Given the description of an element on the screen output the (x, y) to click on. 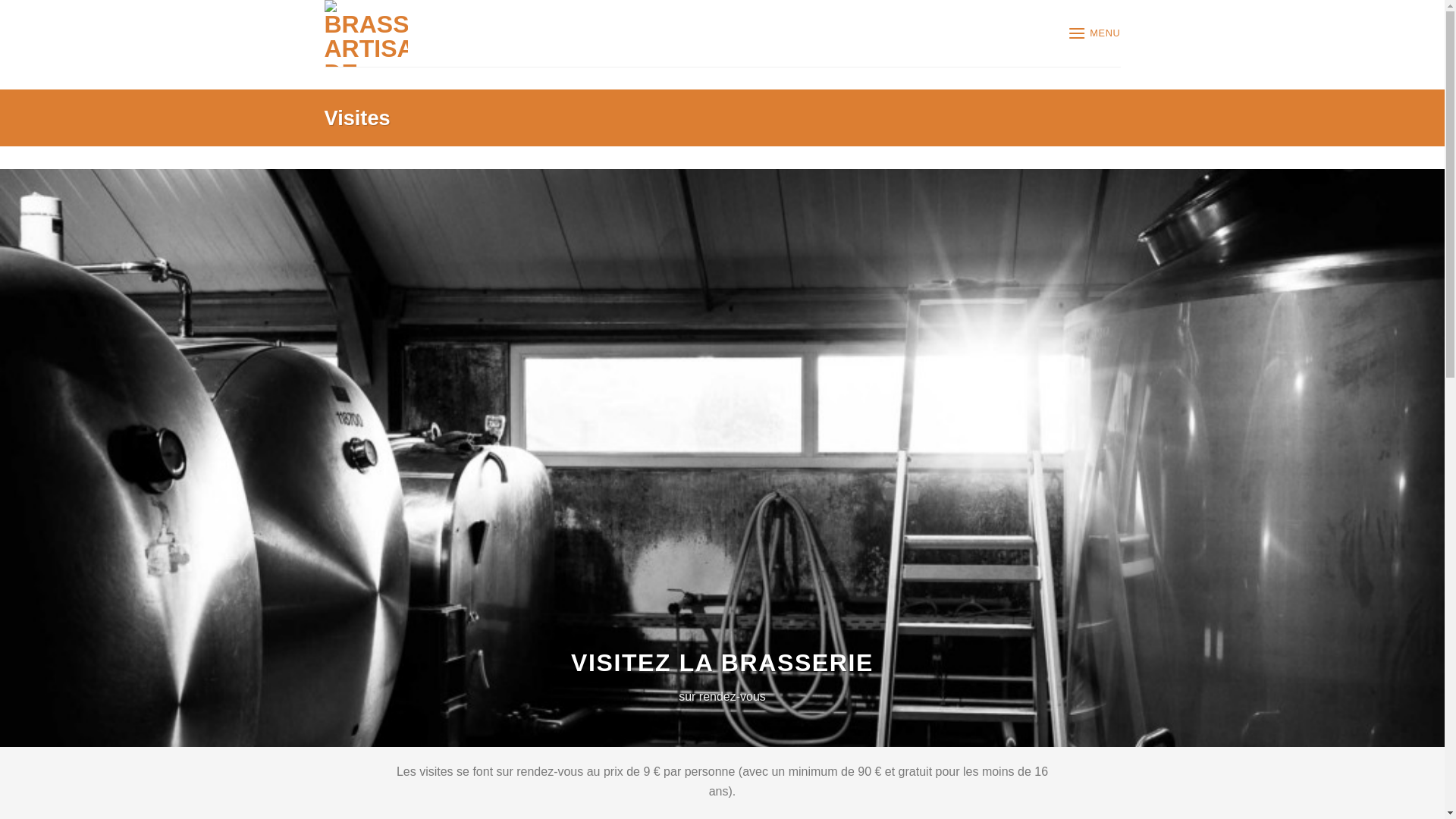
Skip to content Element type: text (0, 0)
MENU Element type: text (1093, 32)
